Given the description of an element on the screen output the (x, y) to click on. 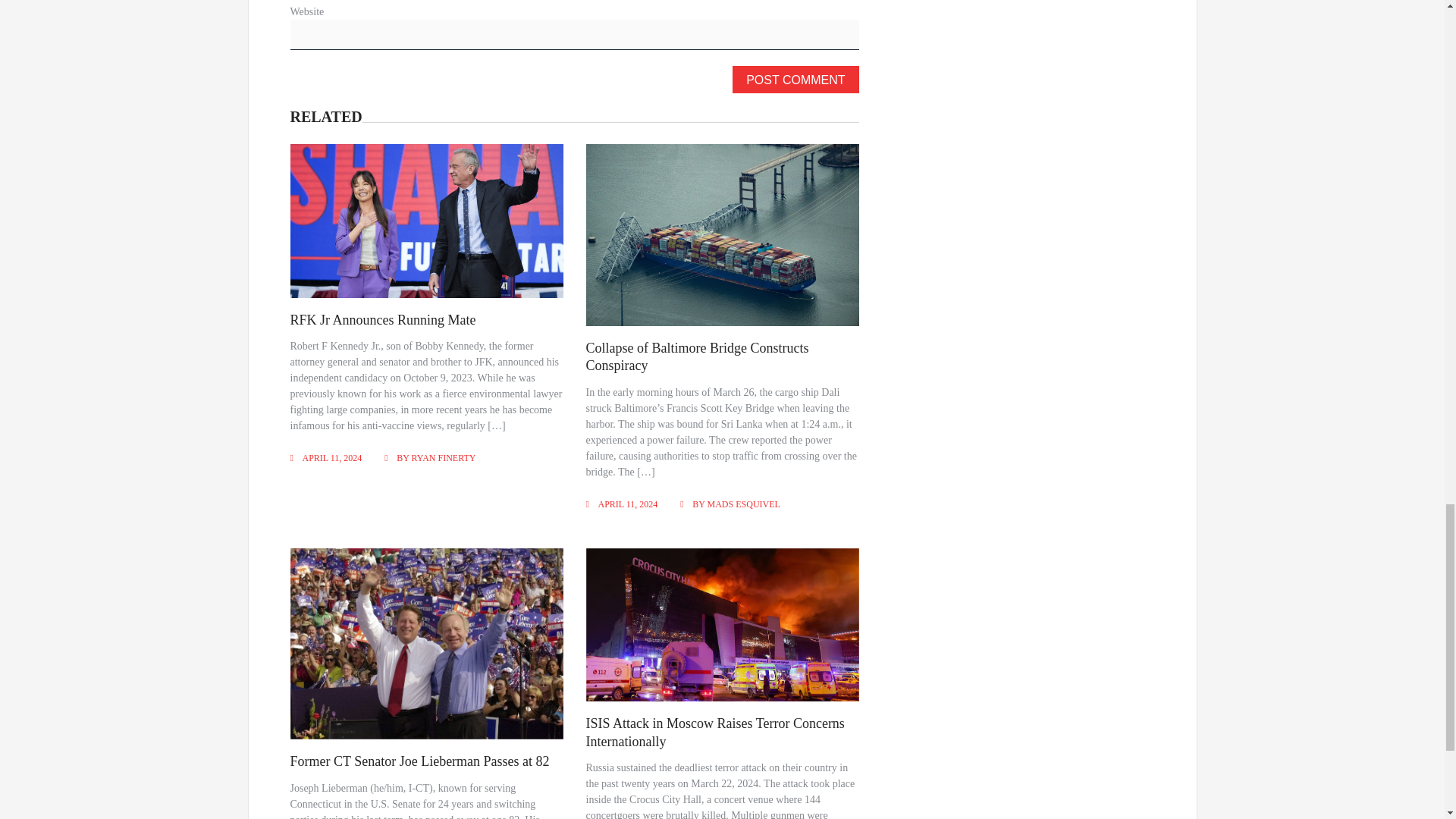
APRIL 11, 2024 (628, 503)
APRIL 11, 2024 (331, 457)
RYAN FINERTY (444, 457)
RFK Jr Announces Running Mate (382, 319)
Post Comment (795, 79)
Post Comment (795, 79)
Collapse of Baltimore Bridge Constructs Conspiracy (697, 356)
